Given the description of an element on the screen output the (x, y) to click on. 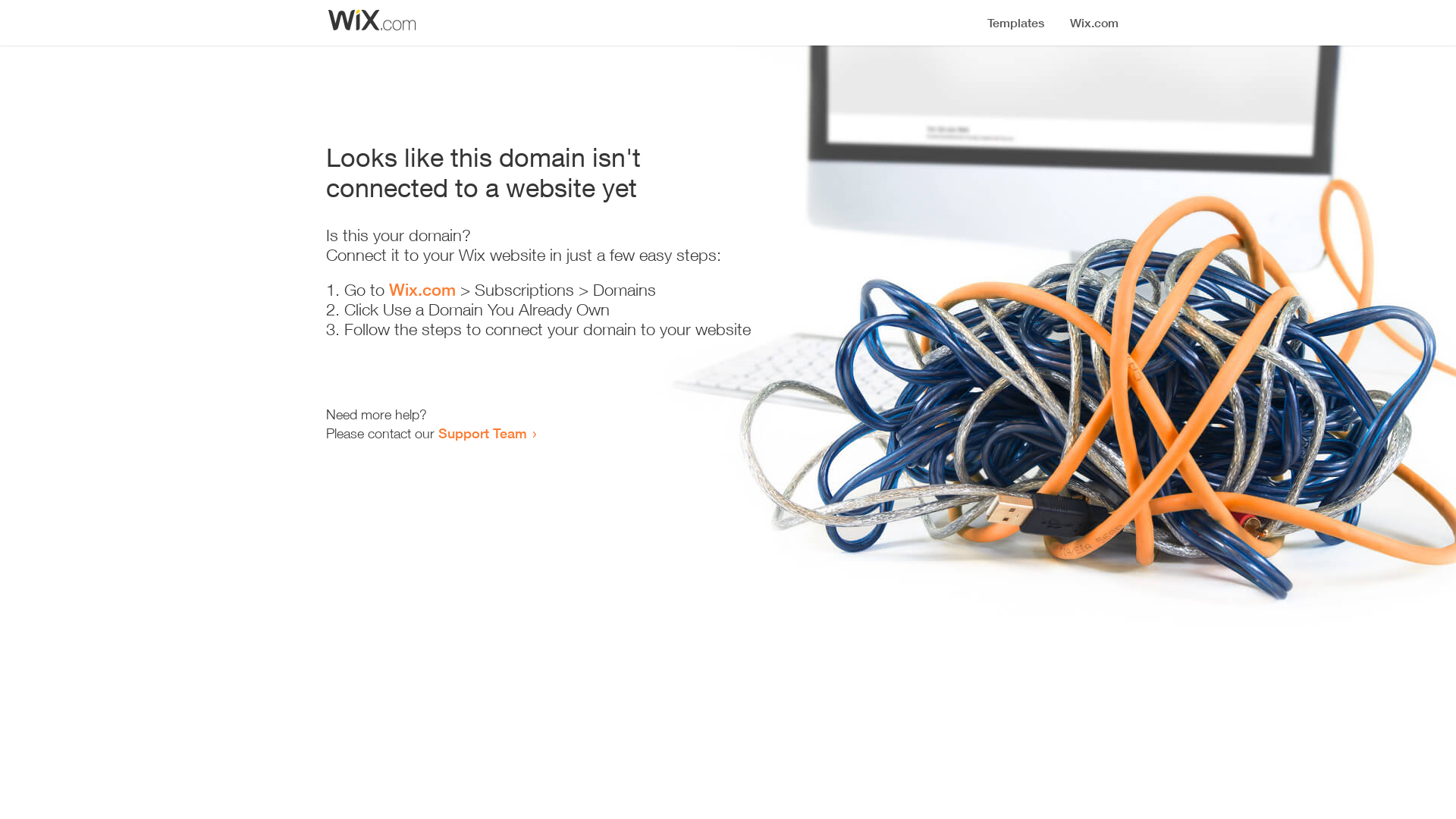
Wix.com Element type: text (422, 289)
Support Team Element type: text (482, 432)
